Given the description of an element on the screen output the (x, y) to click on. 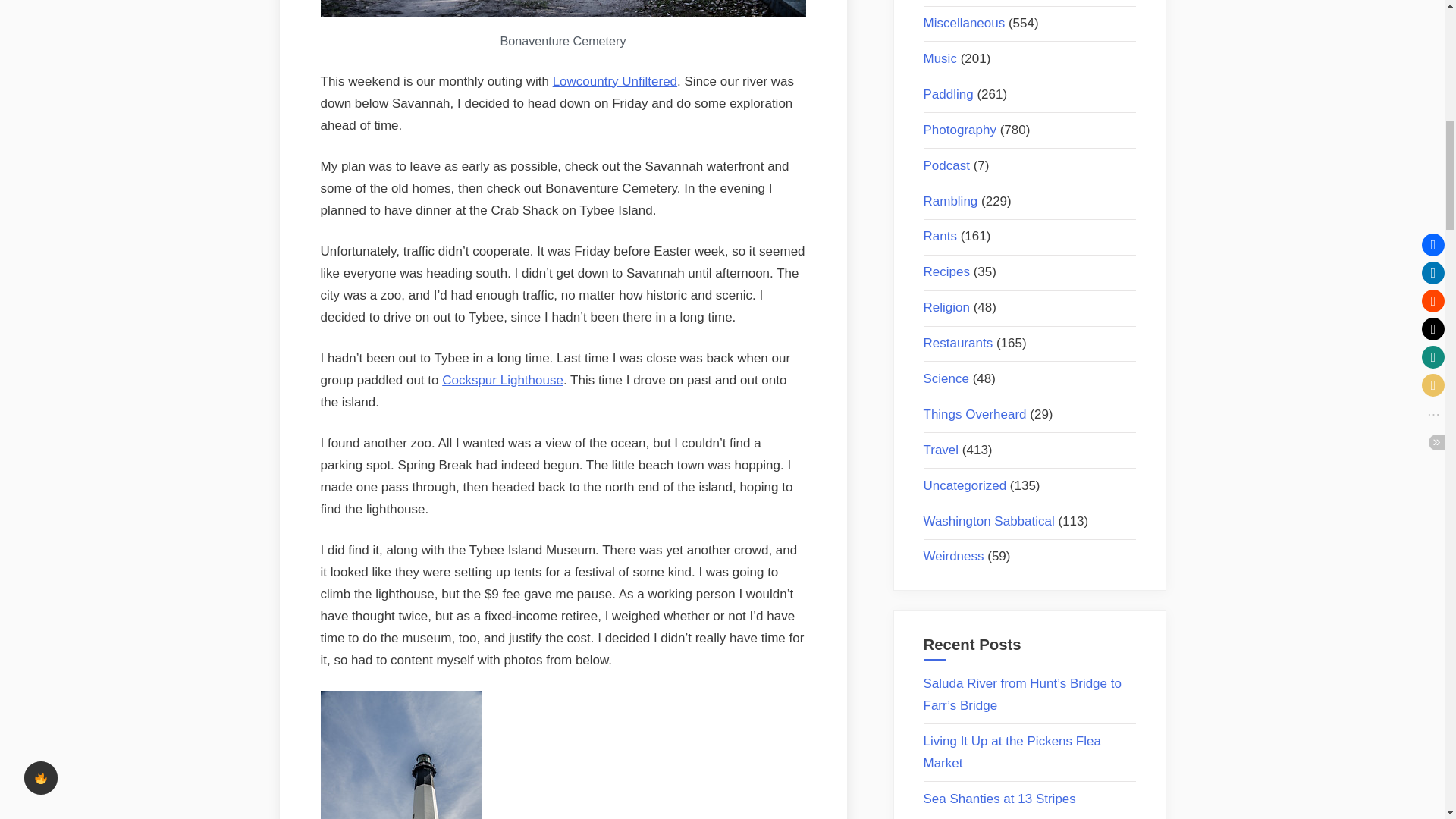
Cockspur Lighthouse (502, 380)
Lowcountry Unfiltered (615, 81)
Bonaventure Cemetery-10 by Tom Taylor, on Flickr (562, 12)
